Given the description of an element on the screen output the (x, y) to click on. 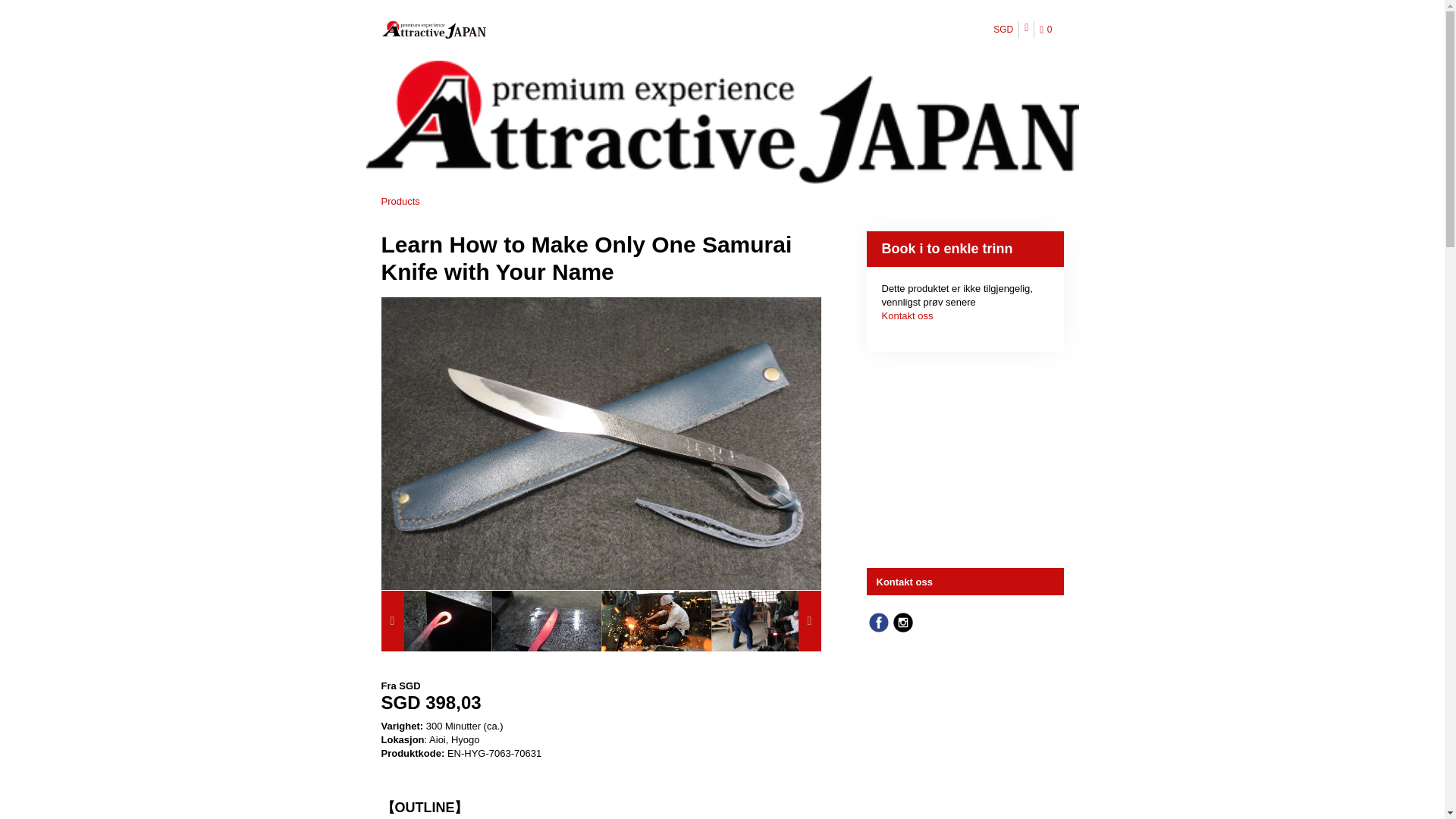
Kontakt oss (906, 315)
SGD (1003, 29)
0 (1047, 30)
Products (399, 201)
Kontakt oss (965, 581)
Estimated conversion from 46450 (600, 702)
